Given the description of an element on the screen output the (x, y) to click on. 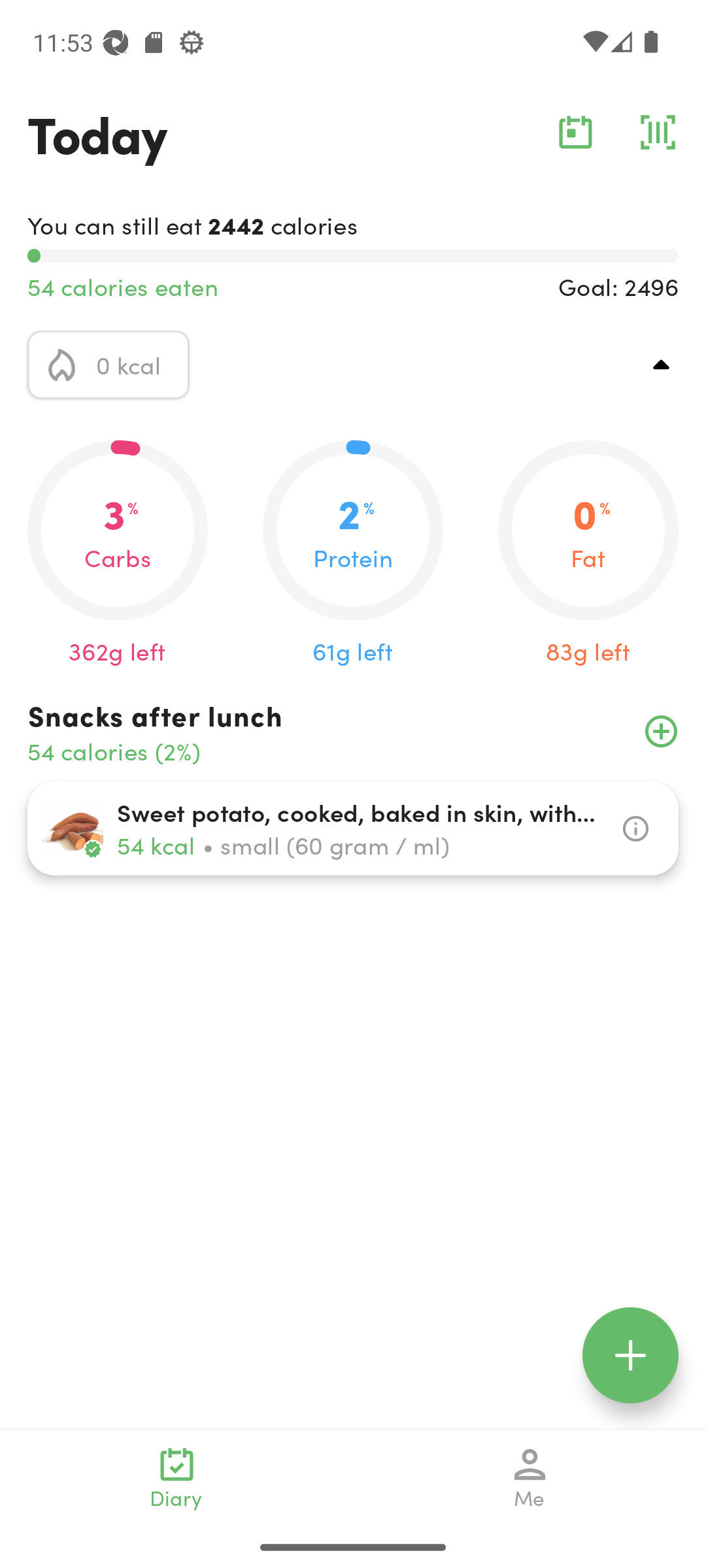
calendar_action (575, 132)
barcode_action (658, 132)
calorie_icon 0 kcal (108, 365)
top_right_action (661, 365)
0.03 3 % Carbs 362g left (117, 553)
0.02 2 % Protein 61g left (352, 553)
0.0 0 % Fat 83g left (588, 553)
info_icon (636, 828)
floating_action_icon (630, 1355)
Me navigation_icon (529, 1478)
